Given the description of an element on the screen output the (x, y) to click on. 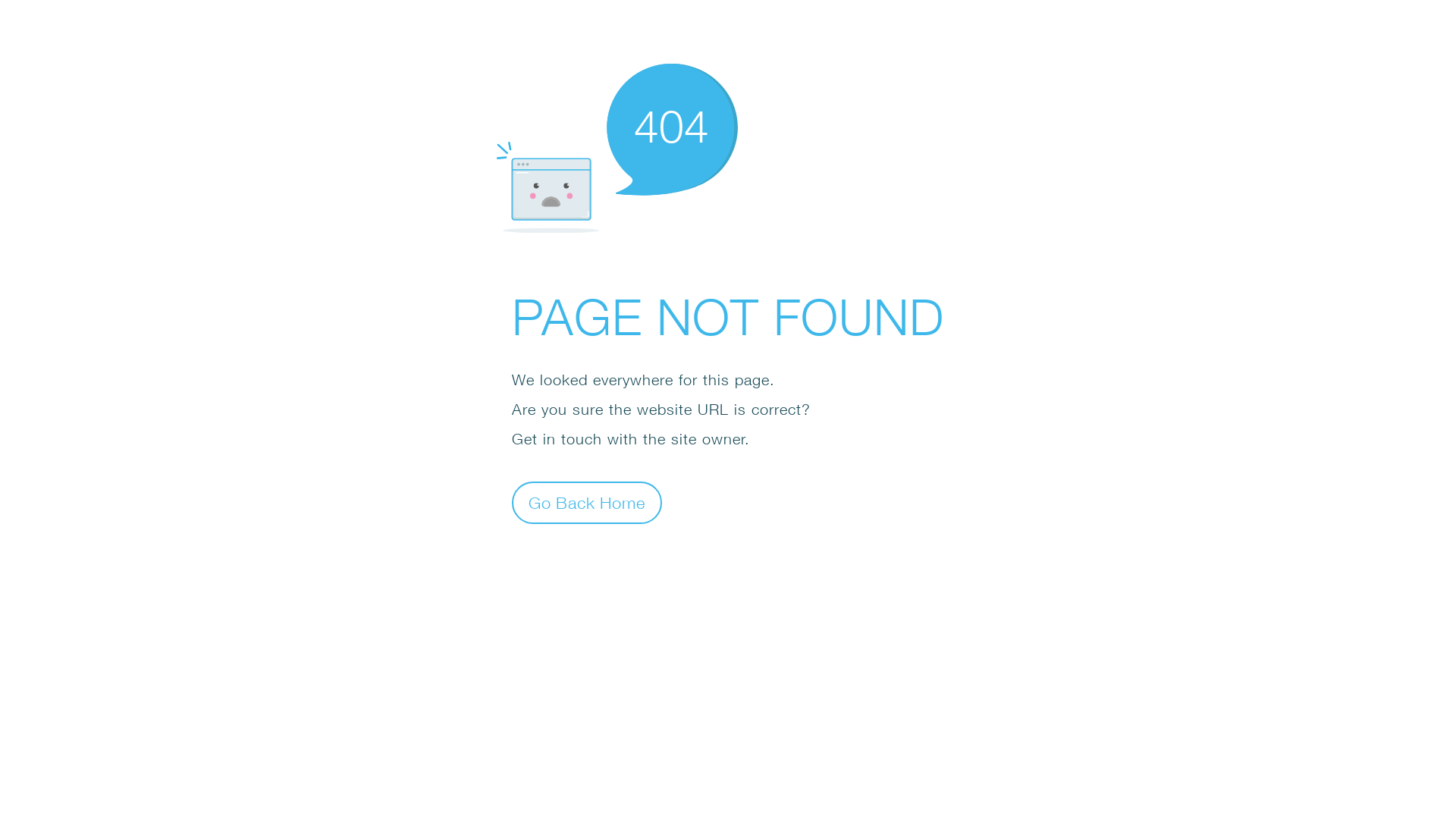
Go Back Home Element type: text (586, 502)
